Given the description of an element on the screen output the (x, y) to click on. 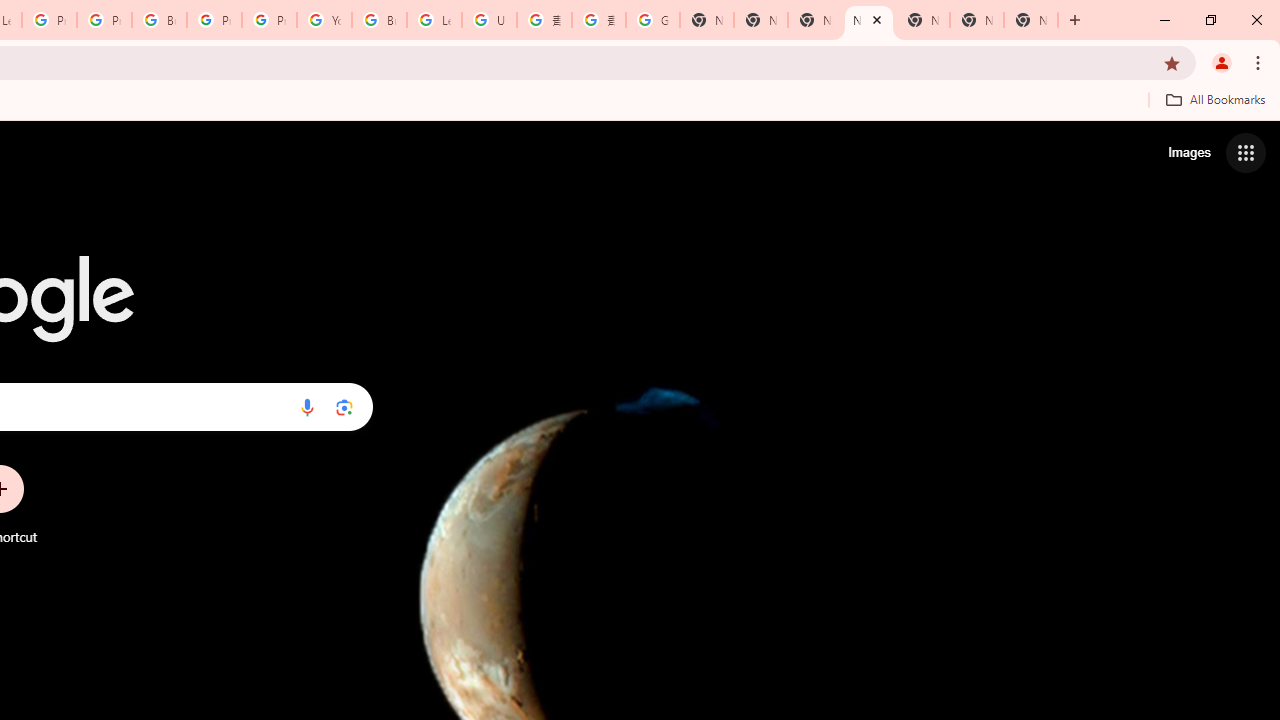
Google Images (652, 20)
Search for Images  (1188, 152)
